Given the description of an element on the screen output the (x, y) to click on. 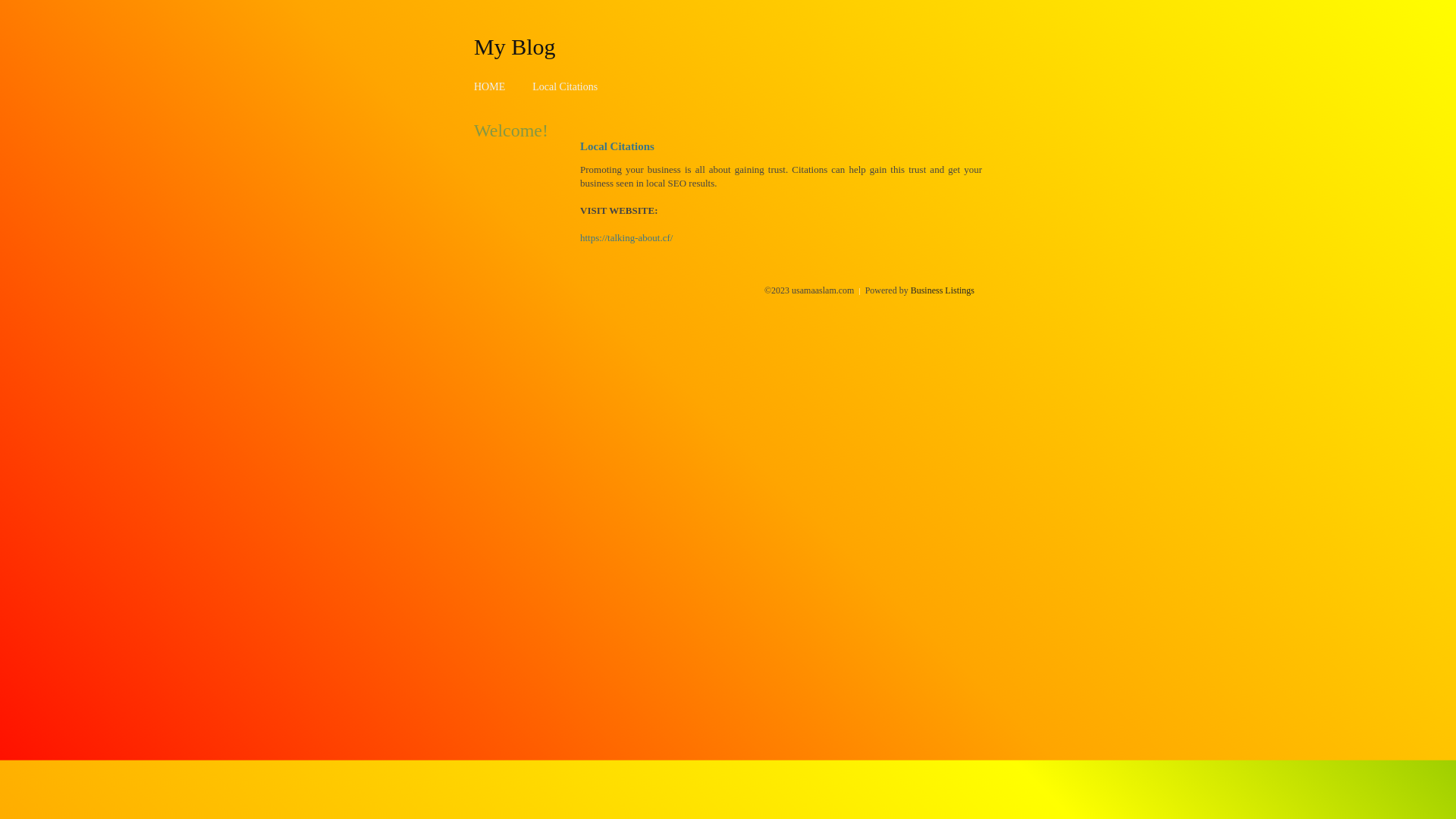
HOME Element type: text (489, 86)
Local Citations Element type: text (564, 86)
My Blog Element type: text (514, 46)
Business Listings Element type: text (942, 290)
https://talking-about.cf/ Element type: text (626, 237)
